Given the description of an element on the screen output the (x, y) to click on. 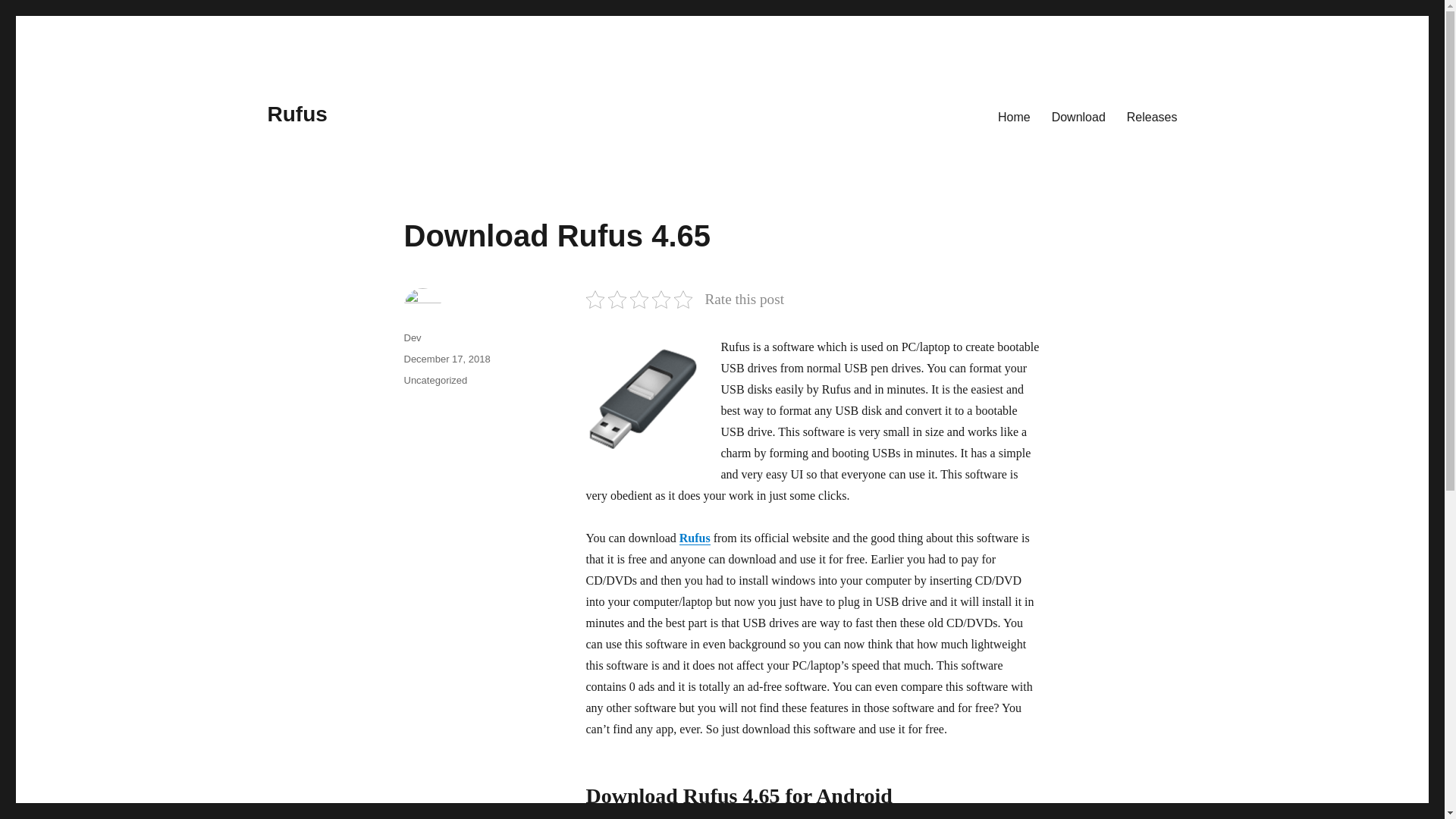
Dev (411, 337)
Home (1014, 116)
Rufus (694, 537)
Rufus (296, 114)
December 17, 2018 (446, 358)
Releases (1152, 116)
Download (1078, 116)
